Given the description of an element on the screen output the (x, y) to click on. 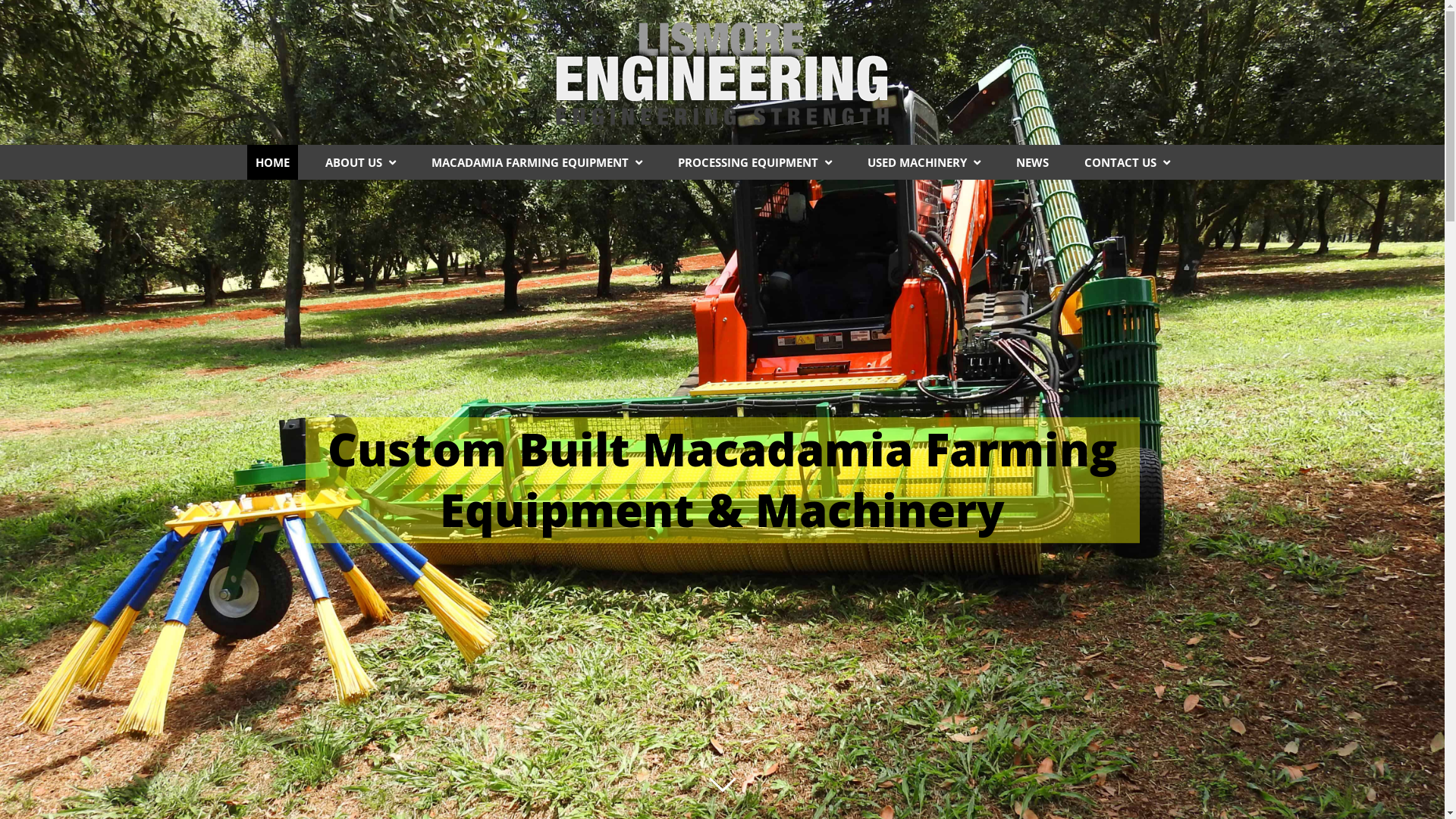
PROCESSING EQUIPMENT Element type: text (754, 161)
NEWS Element type: text (1032, 161)
ABOUT US Element type: text (360, 161)
USED MACHINERY Element type: text (923, 161)
MACADAMIA FARMING EQUIPMENT Element type: text (536, 161)
CONTACT US Element type: text (1127, 161)
HOME Element type: text (272, 161)
